Given the description of an element on the screen output the (x, y) to click on. 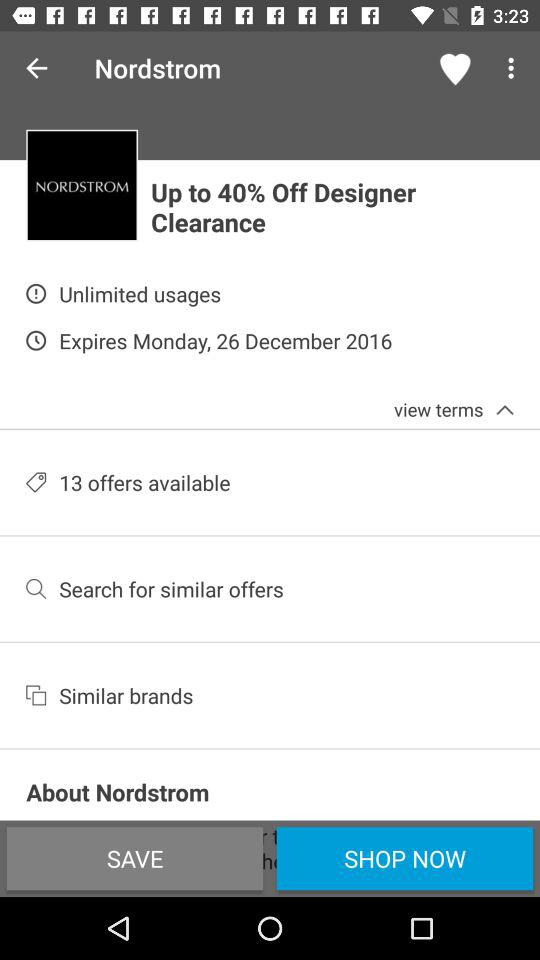
click on the icon which is left to three dots (456, 68)
select the option under the text about nordstrom (134, 857)
click on  more icon which appears in the form of three dots (514, 68)
